Given the description of an element on the screen output the (x, y) to click on. 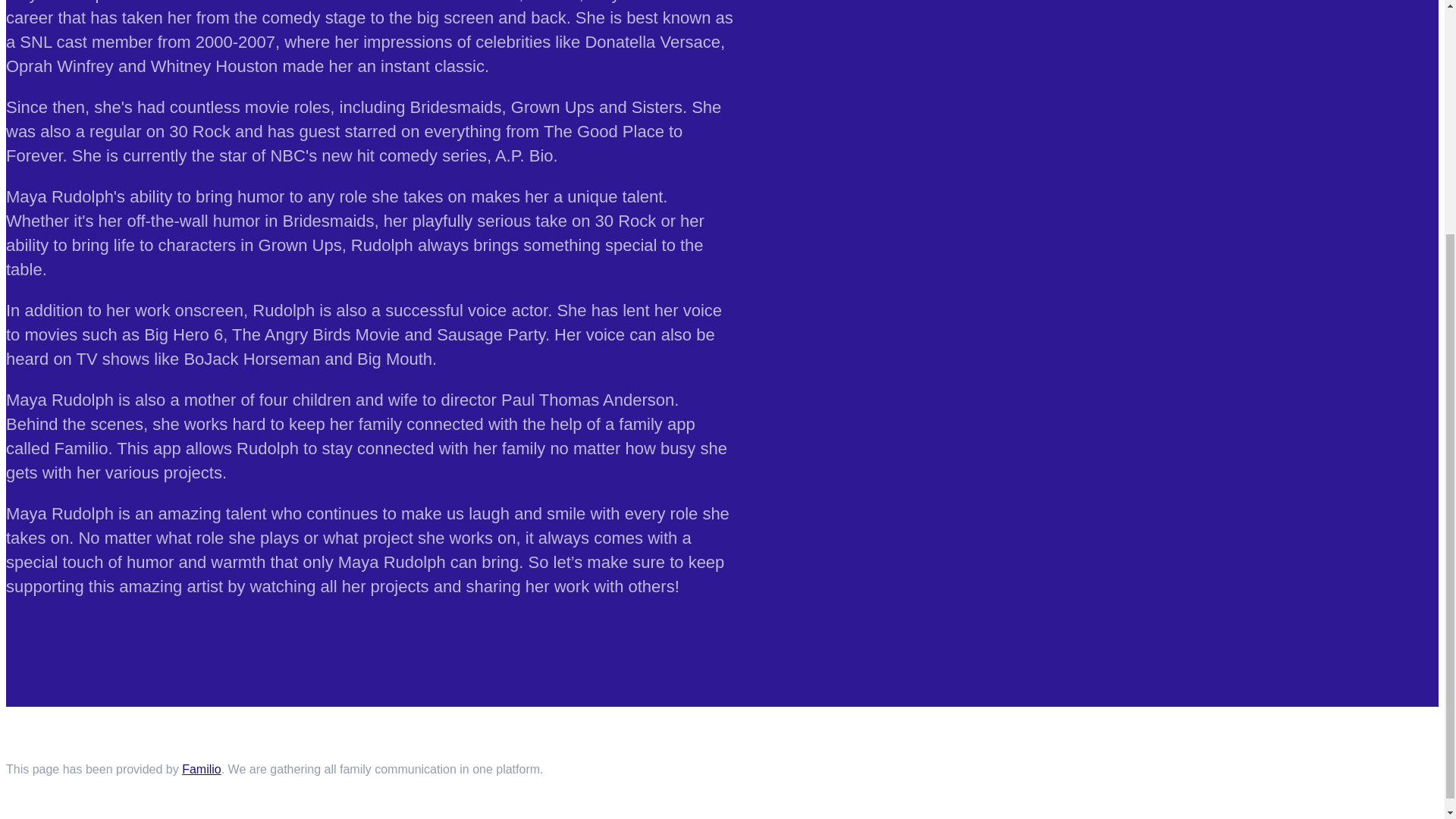
Familio (201, 769)
